Given the description of an element on the screen output the (x, y) to click on. 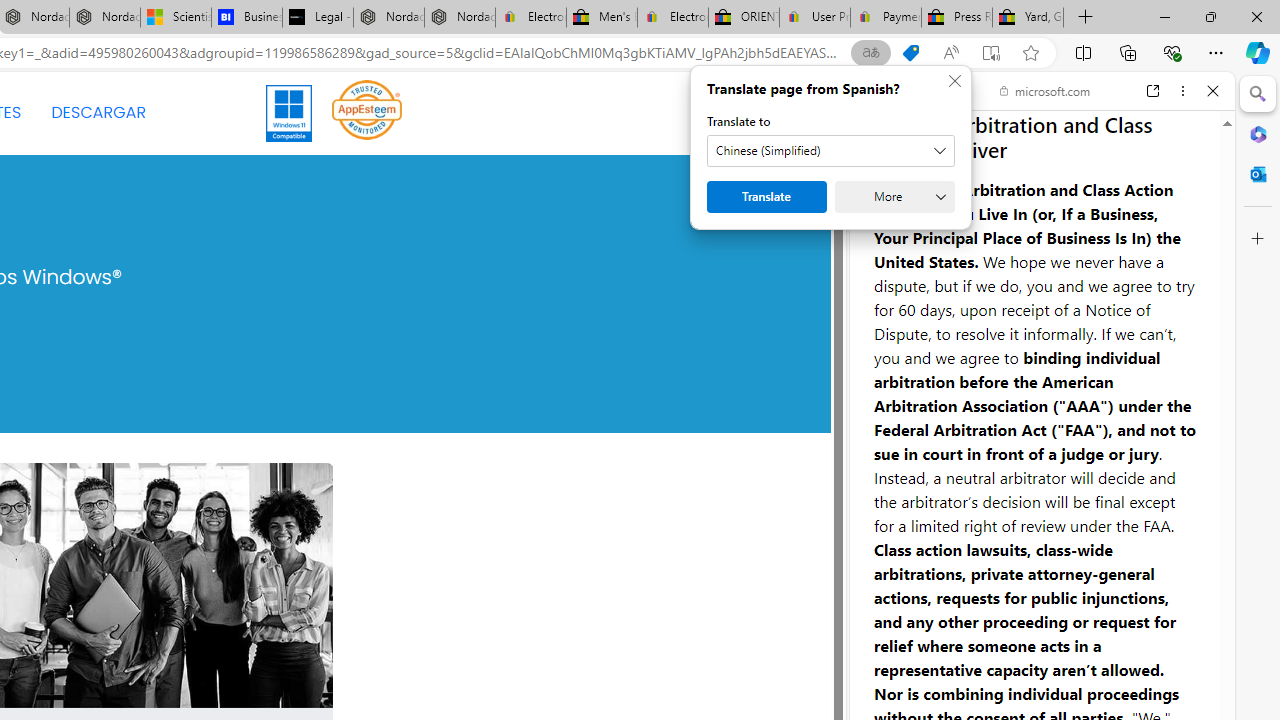
This site scope (936, 180)
Shopping in Microsoft Edge (910, 53)
Yard, Garden & Outdoor Living (1028, 17)
Translate to (830, 151)
